Given the description of an element on the screen output the (x, y) to click on. 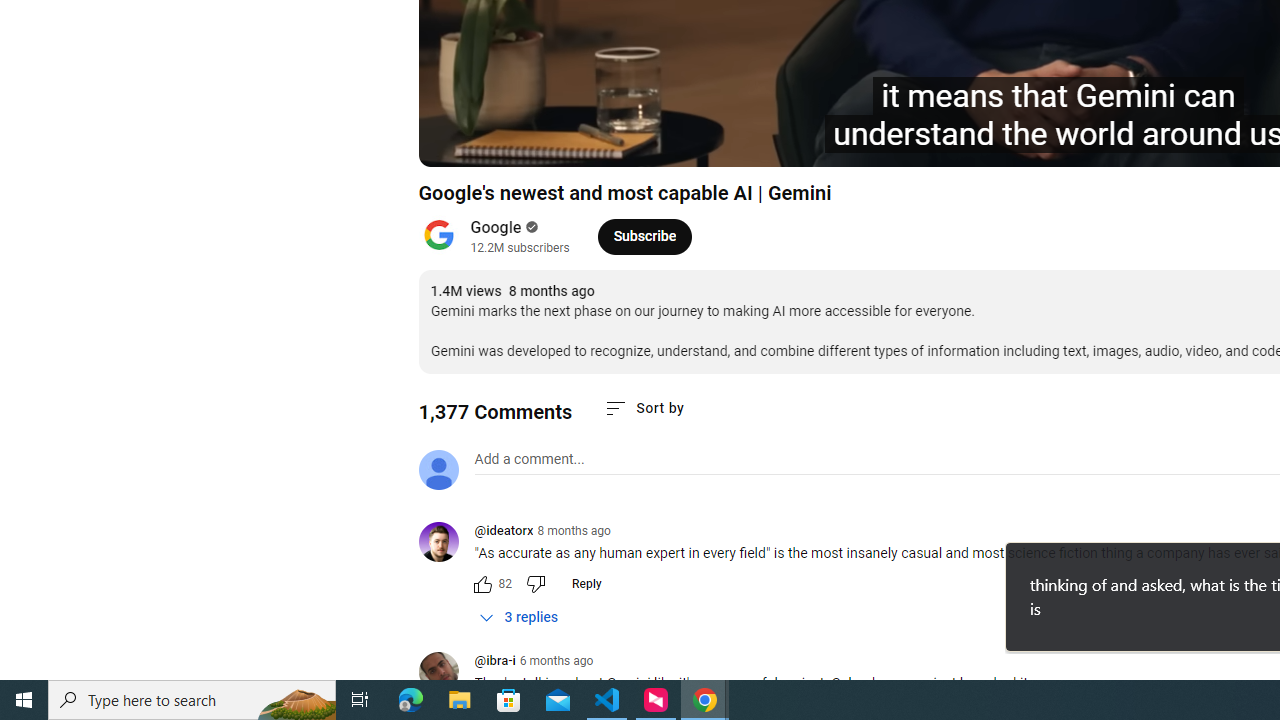
Play (k) (453, 142)
Reply (586, 583)
Verified (530, 227)
Sort comments (644, 408)
3 replies (518, 617)
@ibra-i (446, 673)
Subscribe to Google. (644, 236)
AutomationID: simplebox-placeholder (528, 459)
Dislike this comment (534, 583)
Like this comment along with 82 other people (482, 583)
Mute keyboard shortcut m (548, 142)
@ibra-i (494, 661)
